Given the description of an element on the screen output the (x, y) to click on. 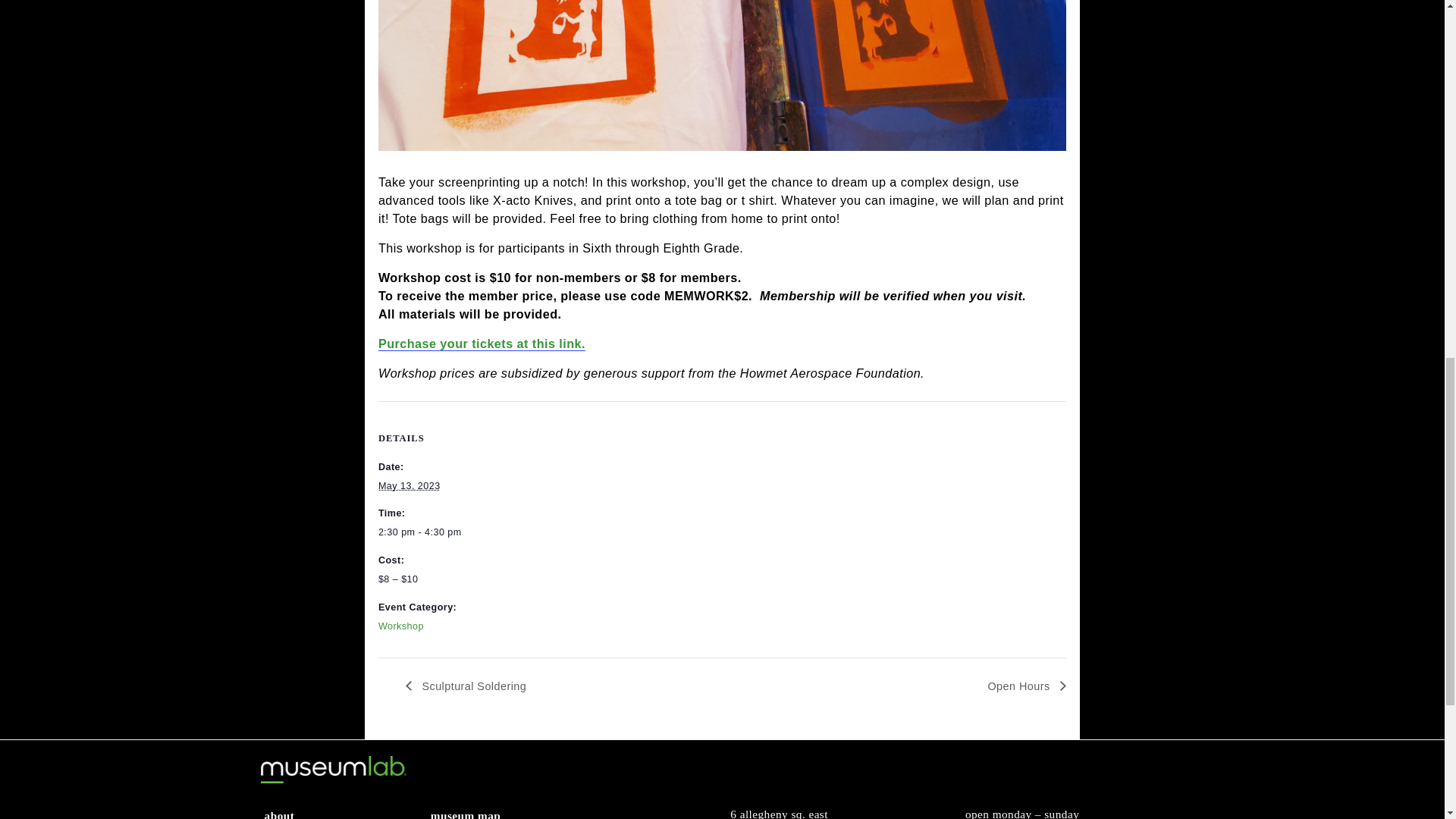
2023-05-13 (454, 630)
Workshop (445, 787)
Purchase your tickets at this link. (534, 472)
2023-05-13 (483, 682)
